Given the description of an element on the screen output the (x, y) to click on. 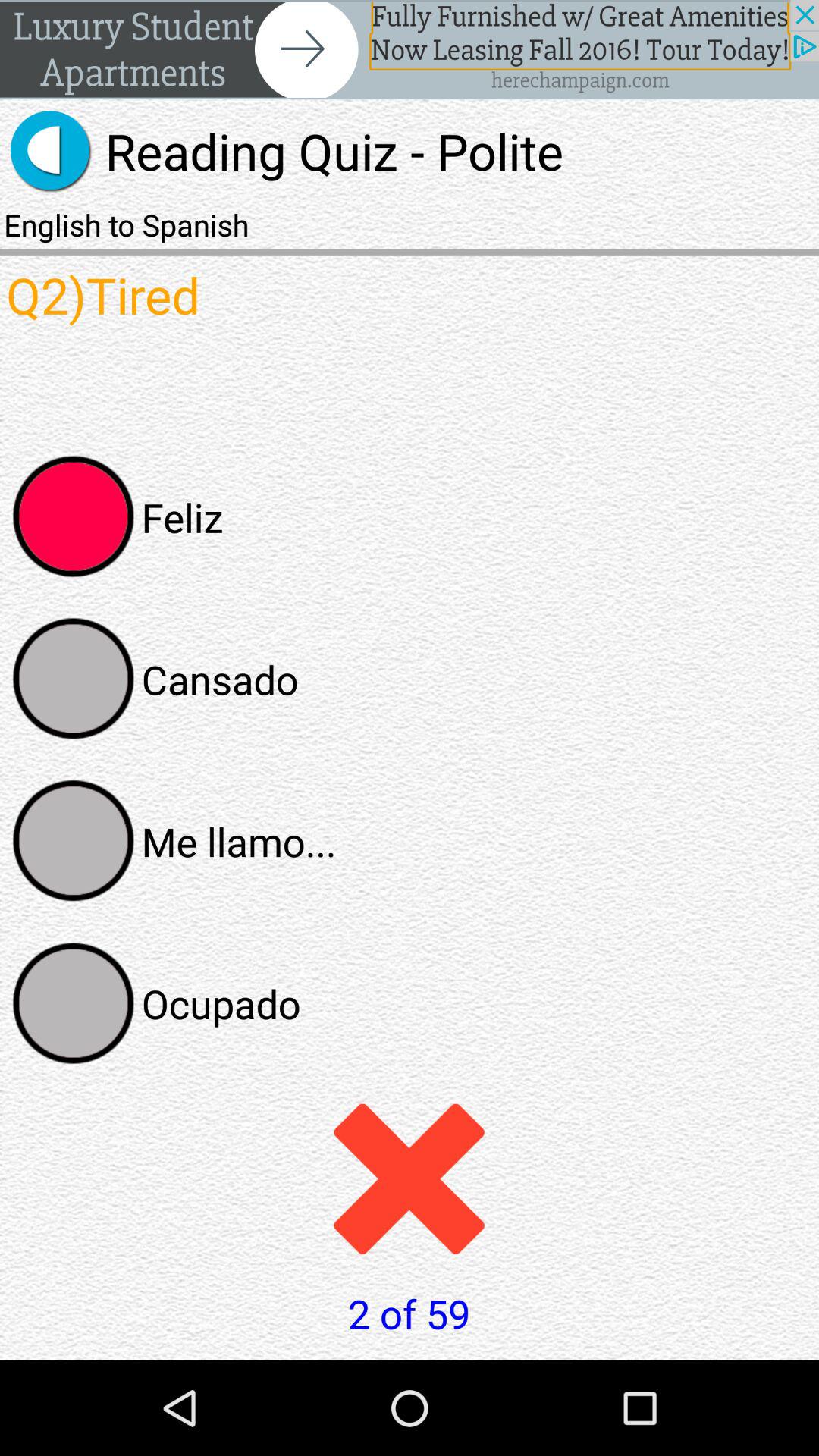
me llamo select button (73, 840)
